Given the description of an element on the screen output the (x, y) to click on. 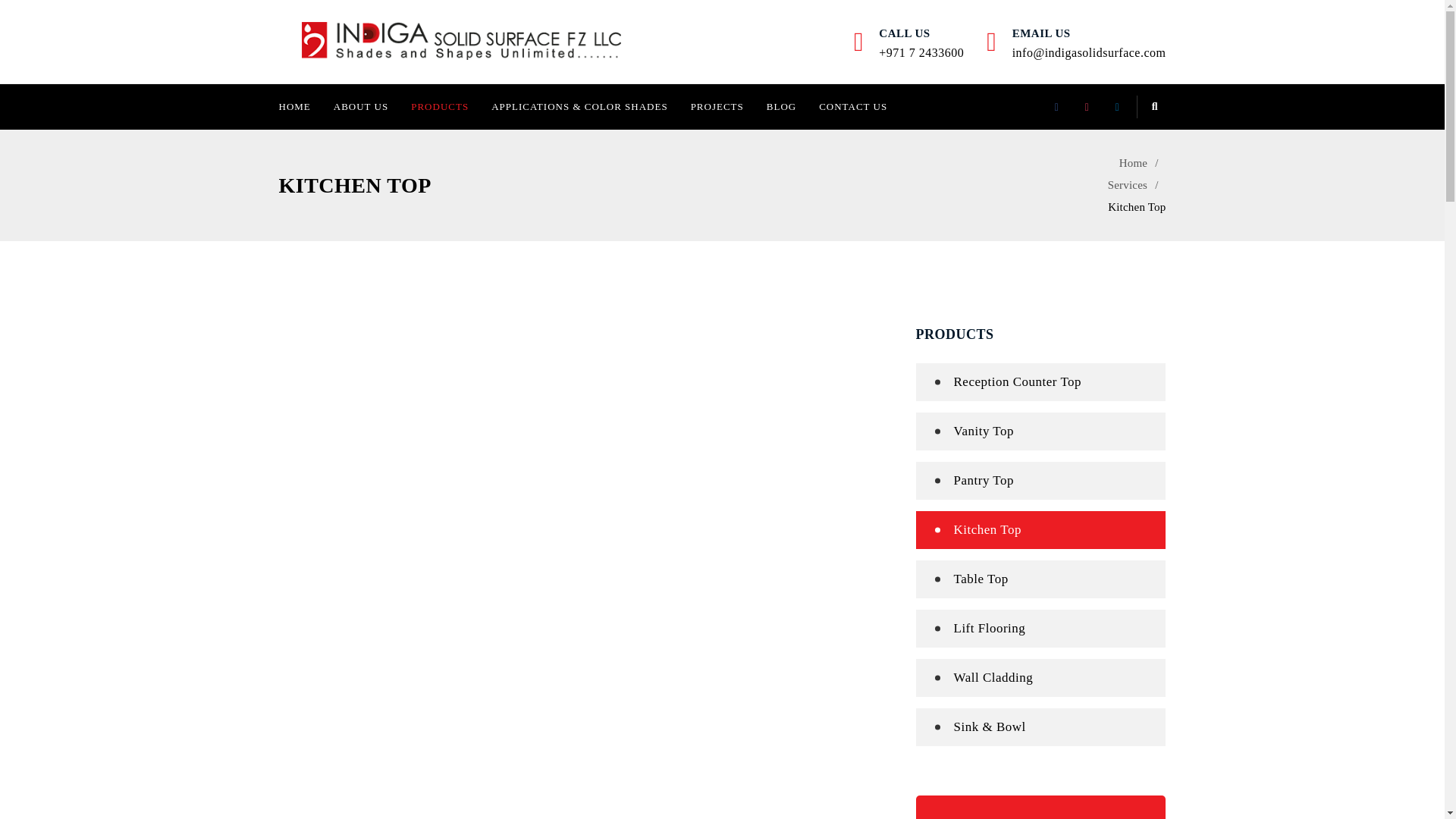
HOME (300, 106)
CONTACT US (853, 106)
Home (1142, 162)
Services (1137, 184)
ABOUT US (359, 106)
PRODUCTS (439, 106)
BLOG (781, 106)
Indiga Solid Surface (461, 40)
Indiga Solid Surface (461, 41)
PROJECTS (717, 106)
